Given the description of an element on the screen output the (x, y) to click on. 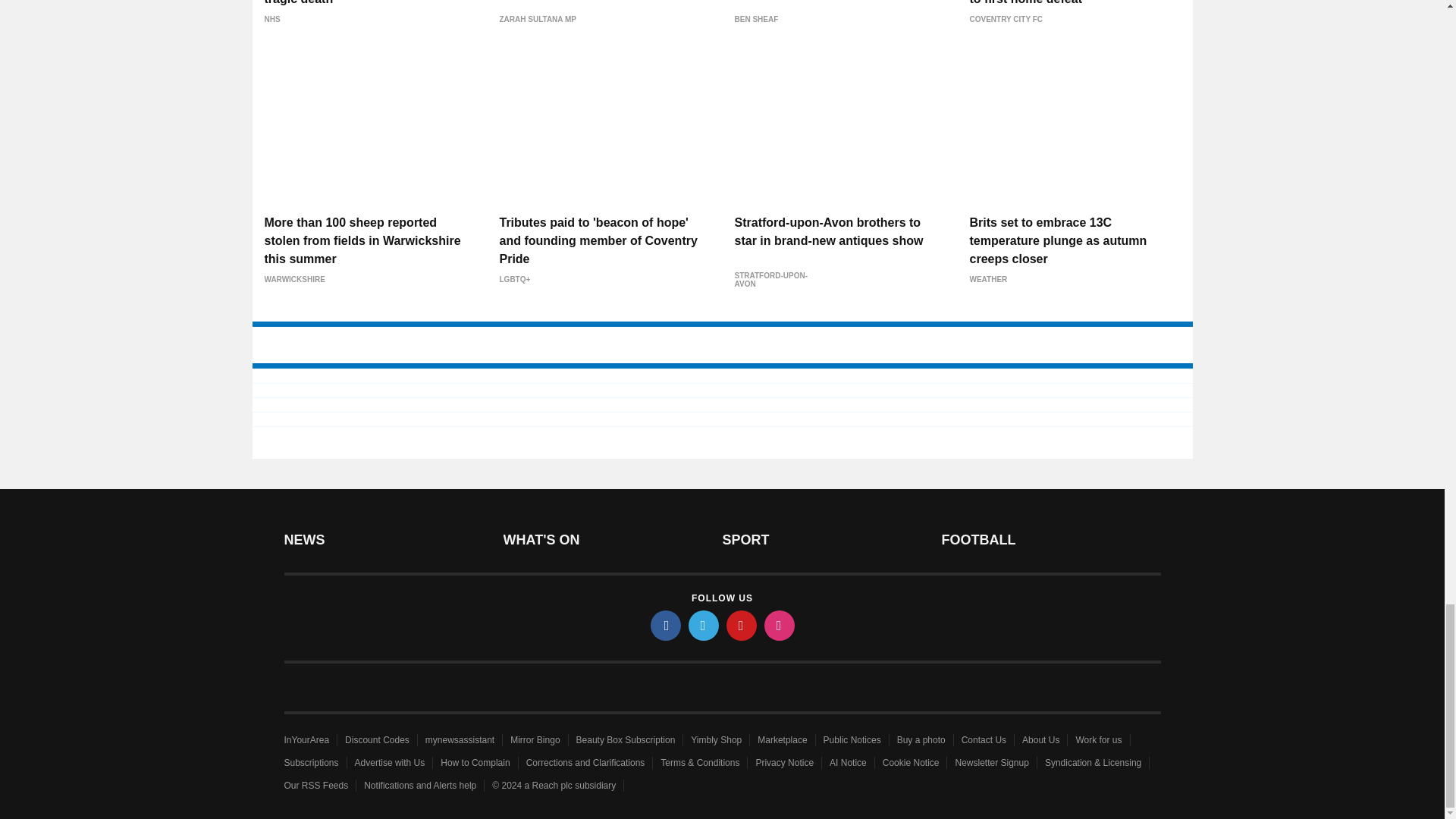
instagram (779, 625)
facebook (665, 625)
twitter (703, 625)
pinterest (741, 625)
